Given the description of an element on the screen output the (x, y) to click on. 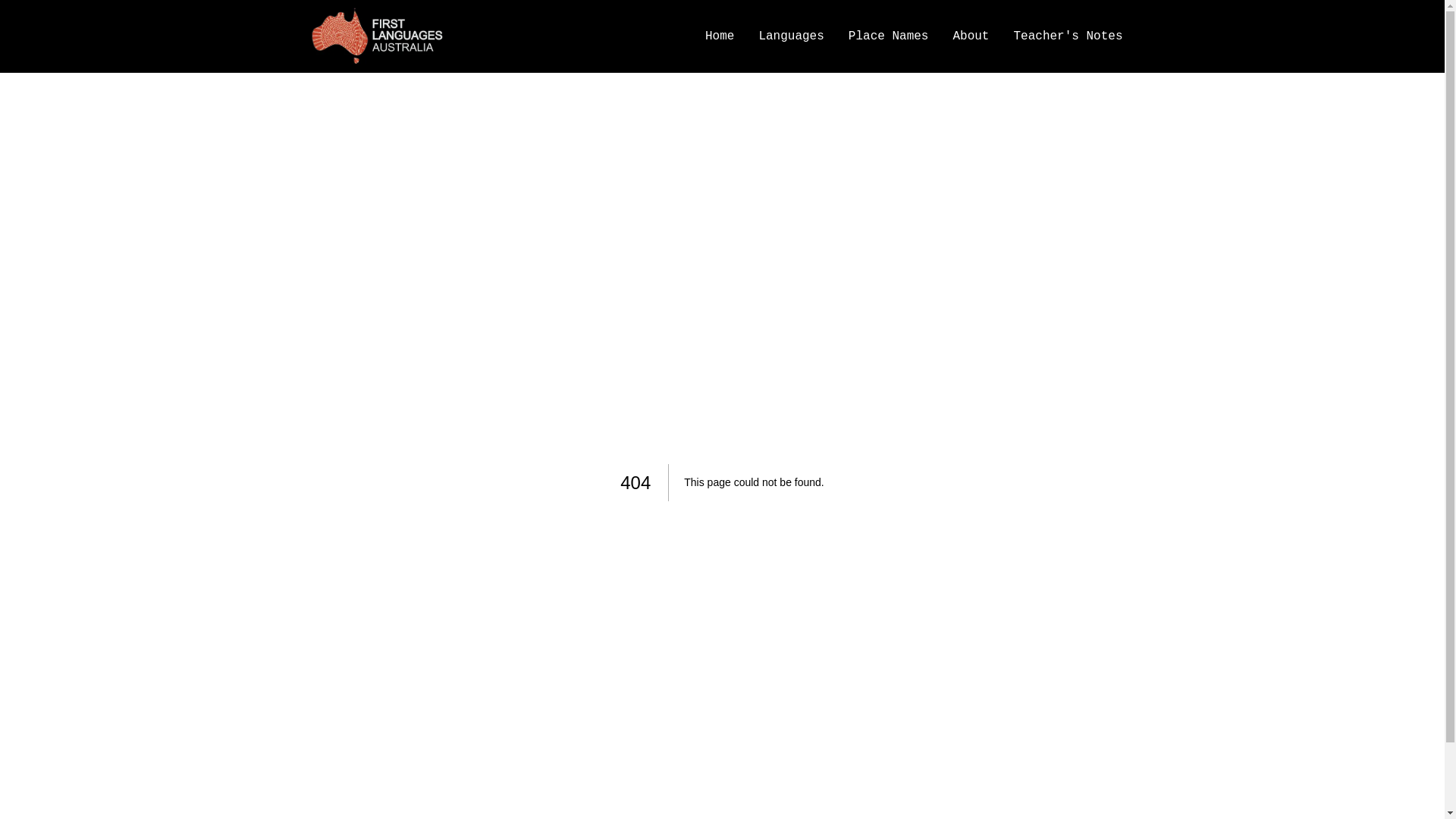
Place Names Element type: text (888, 36)
Home Element type: text (725, 36)
About Element type: text (970, 36)
Teacher's Notes Element type: text (1067, 36)
Languages Element type: text (790, 36)
